Given the description of an element on the screen output the (x, y) to click on. 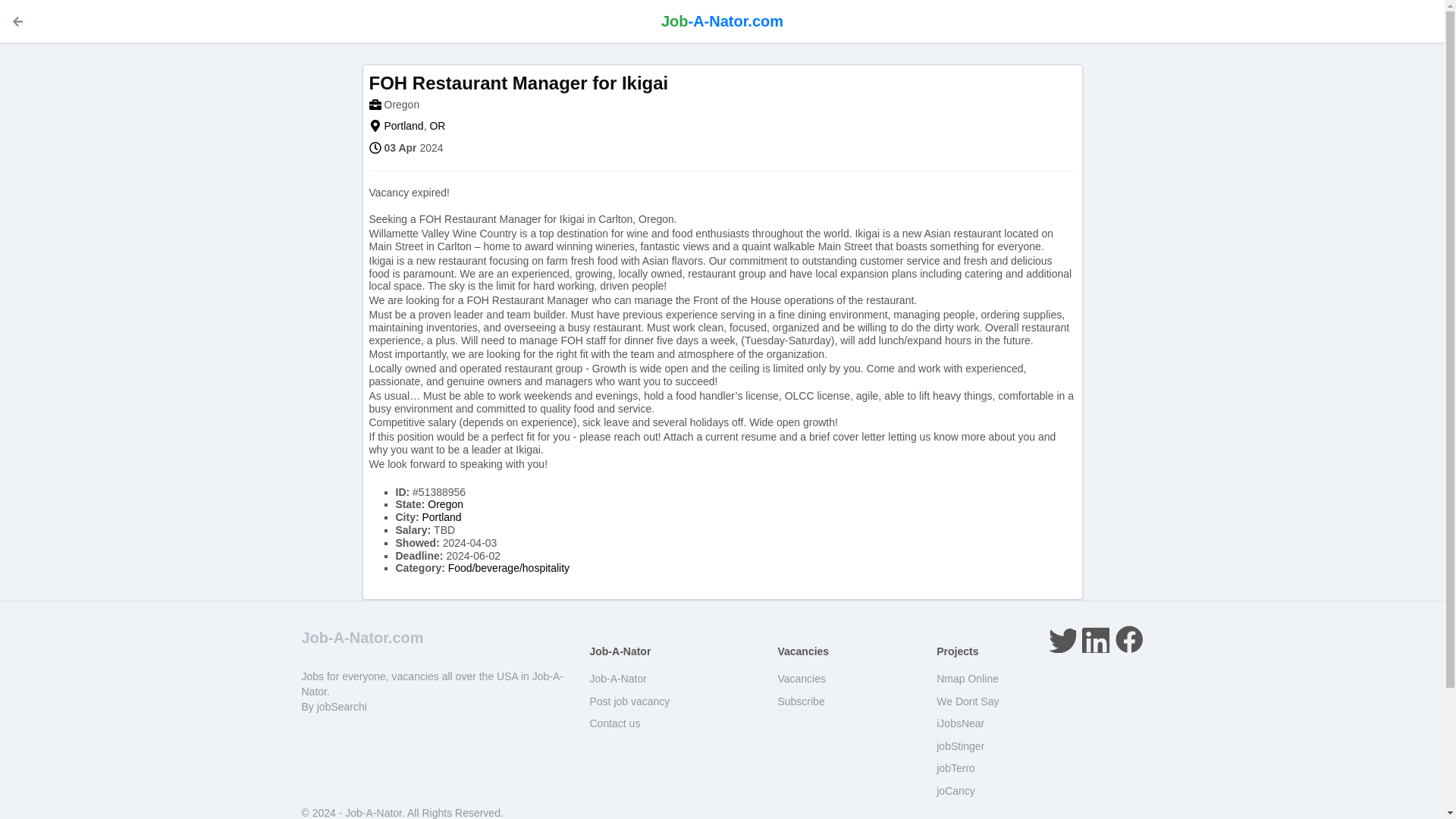
Contact us (614, 723)
Portland (403, 125)
jobStinger (960, 746)
jobstinger.com (960, 746)
Oregon job vacancies (401, 104)
Portland (441, 517)
Job-A-Nator.com (722, 21)
Post job vacancy (629, 701)
jobterro.com (955, 767)
nmap.online (967, 678)
wedontsay.com (967, 701)
Nmap Online (967, 678)
Subscribe (800, 701)
Oregon (401, 104)
Post job vacancy (629, 701)
